Given the description of an element on the screen output the (x, y) to click on. 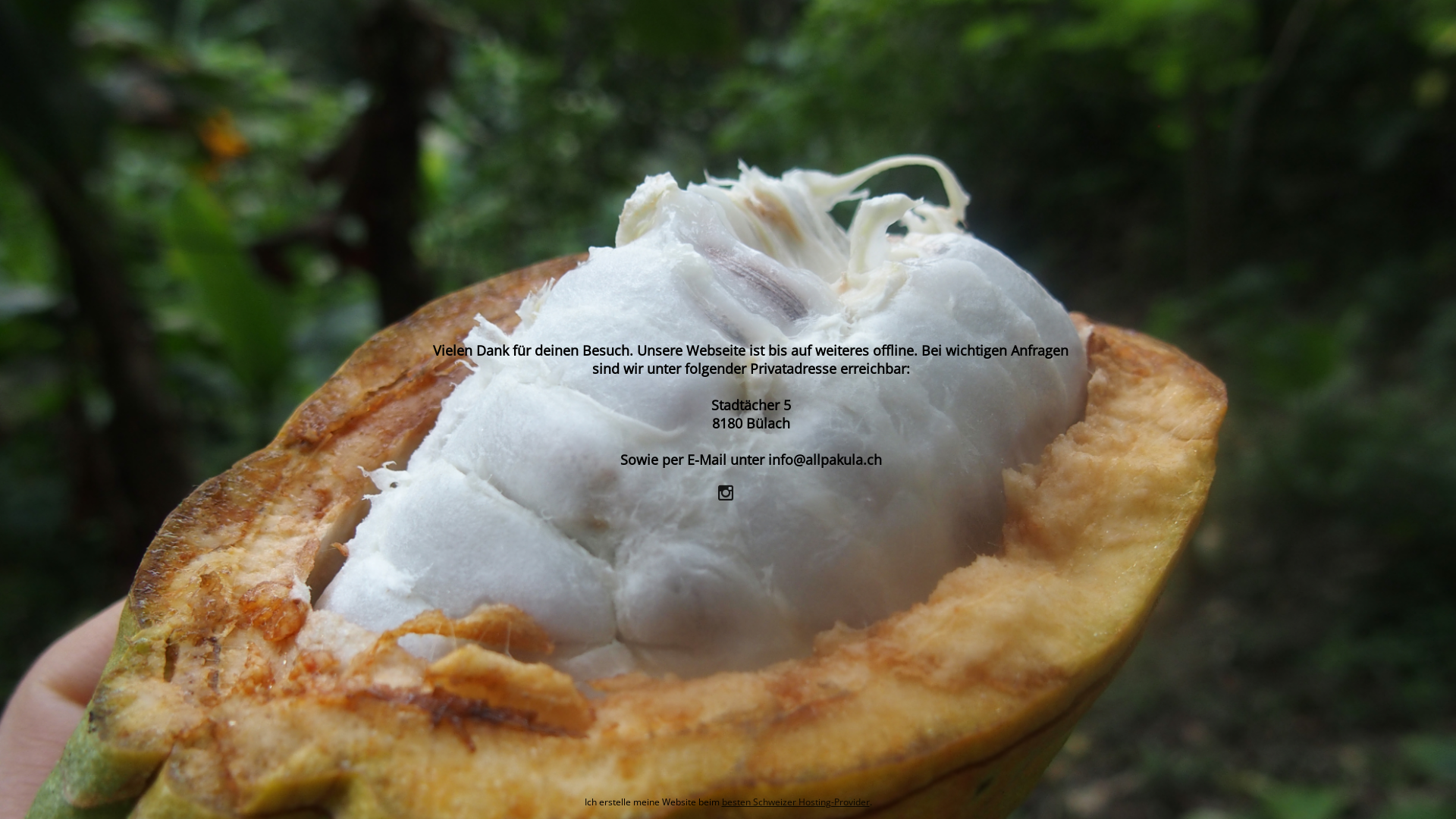
besten Schweizer Hosting-Provider Element type: text (795, 801)
Instagram Element type: hover (728, 491)
  Element type: text (728, 491)
